Given the description of an element on the screen output the (x, y) to click on. 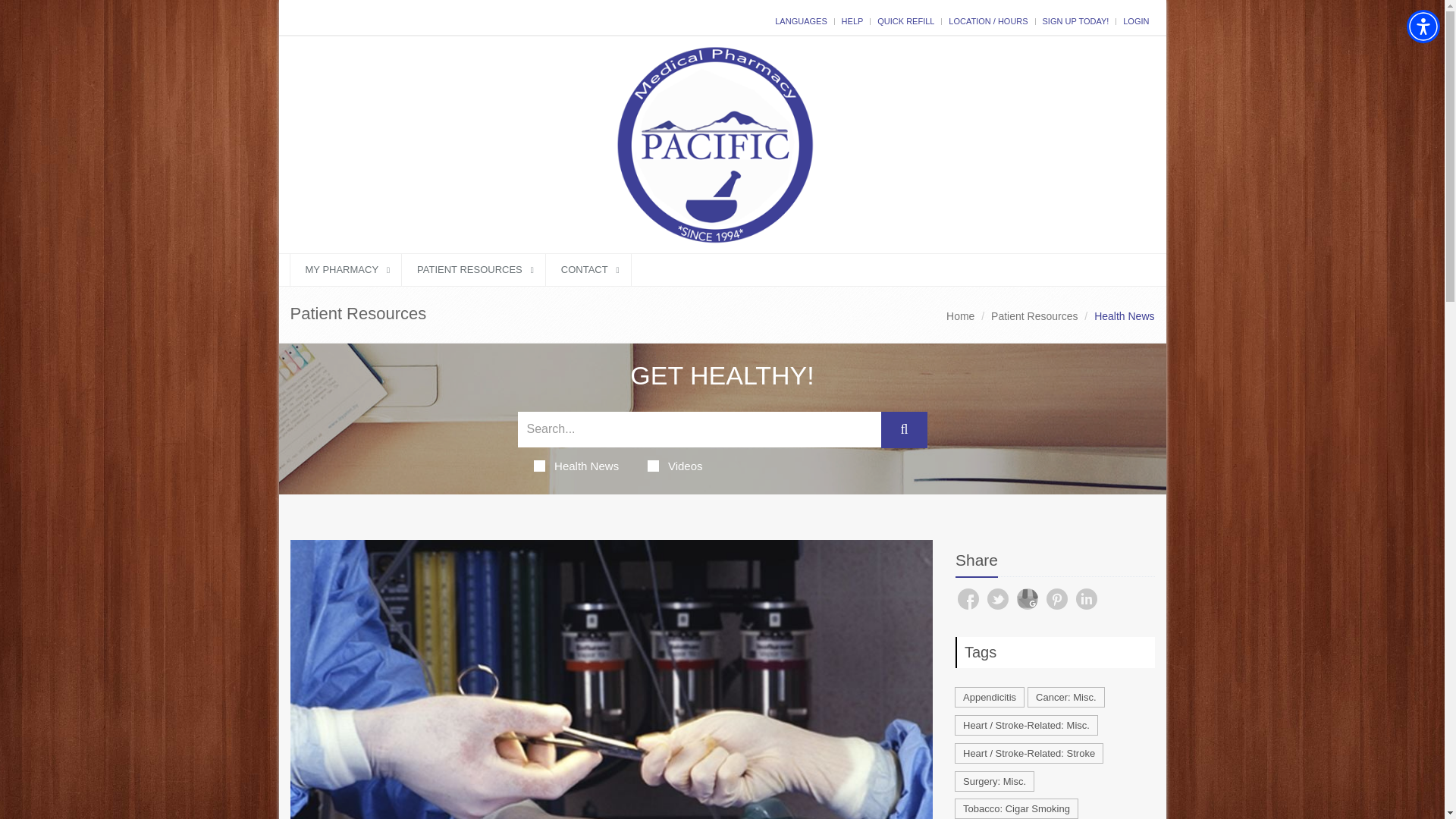
PATIENT RESOURCES (472, 269)
CONTACT (588, 269)
HELP (852, 20)
MY PHARMACY (345, 269)
LANGUAGES (800, 20)
